Given the description of an element on the screen output the (x, y) to click on. 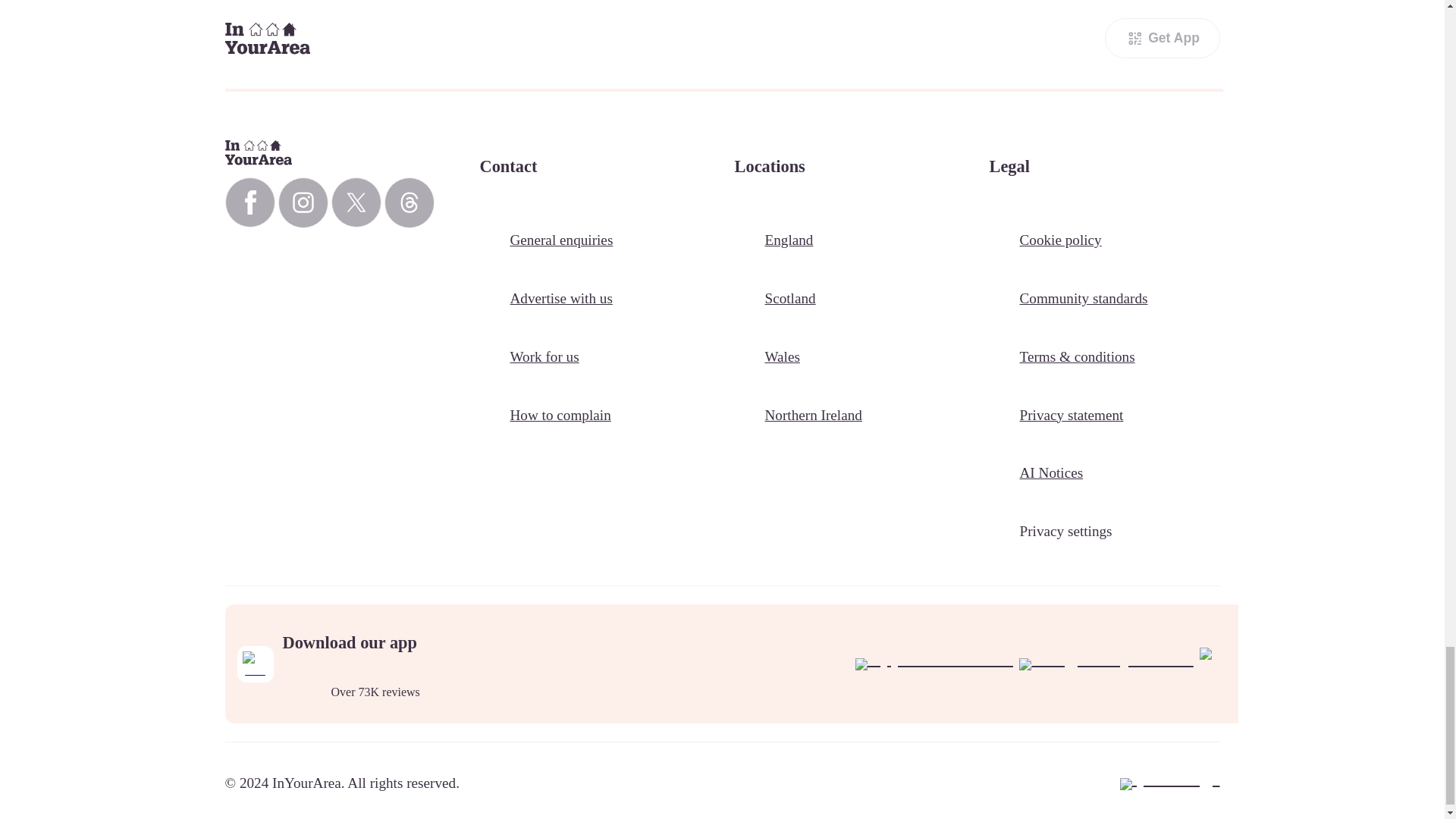
InYourArea Facebook (249, 202)
InYourArea Threads (408, 203)
InYourArea X (355, 202)
InYourArea Instagram (302, 203)
